Given the description of an element on the screen output the (x, y) to click on. 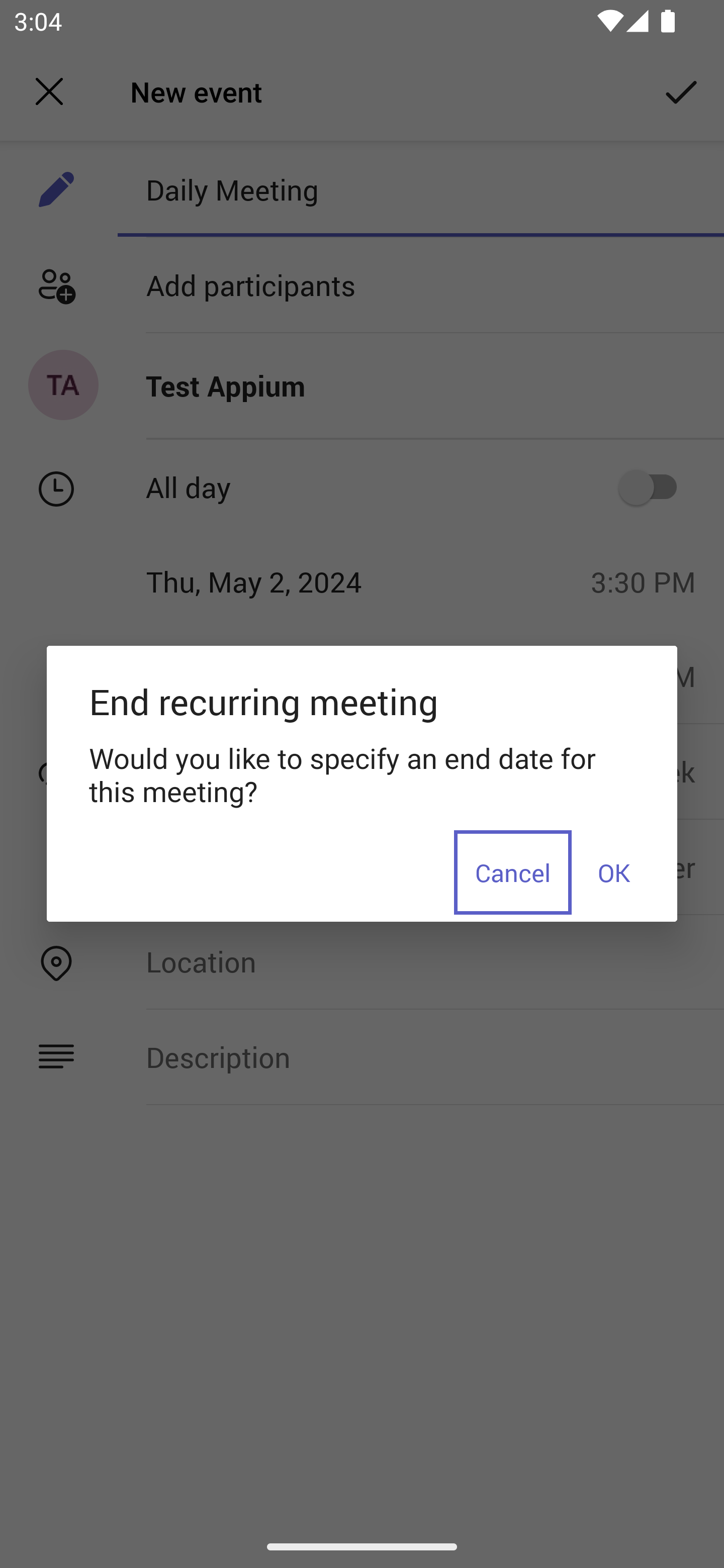
Cancel (512, 871)
OK (613, 871)
